Given the description of an element on the screen output the (x, y) to click on. 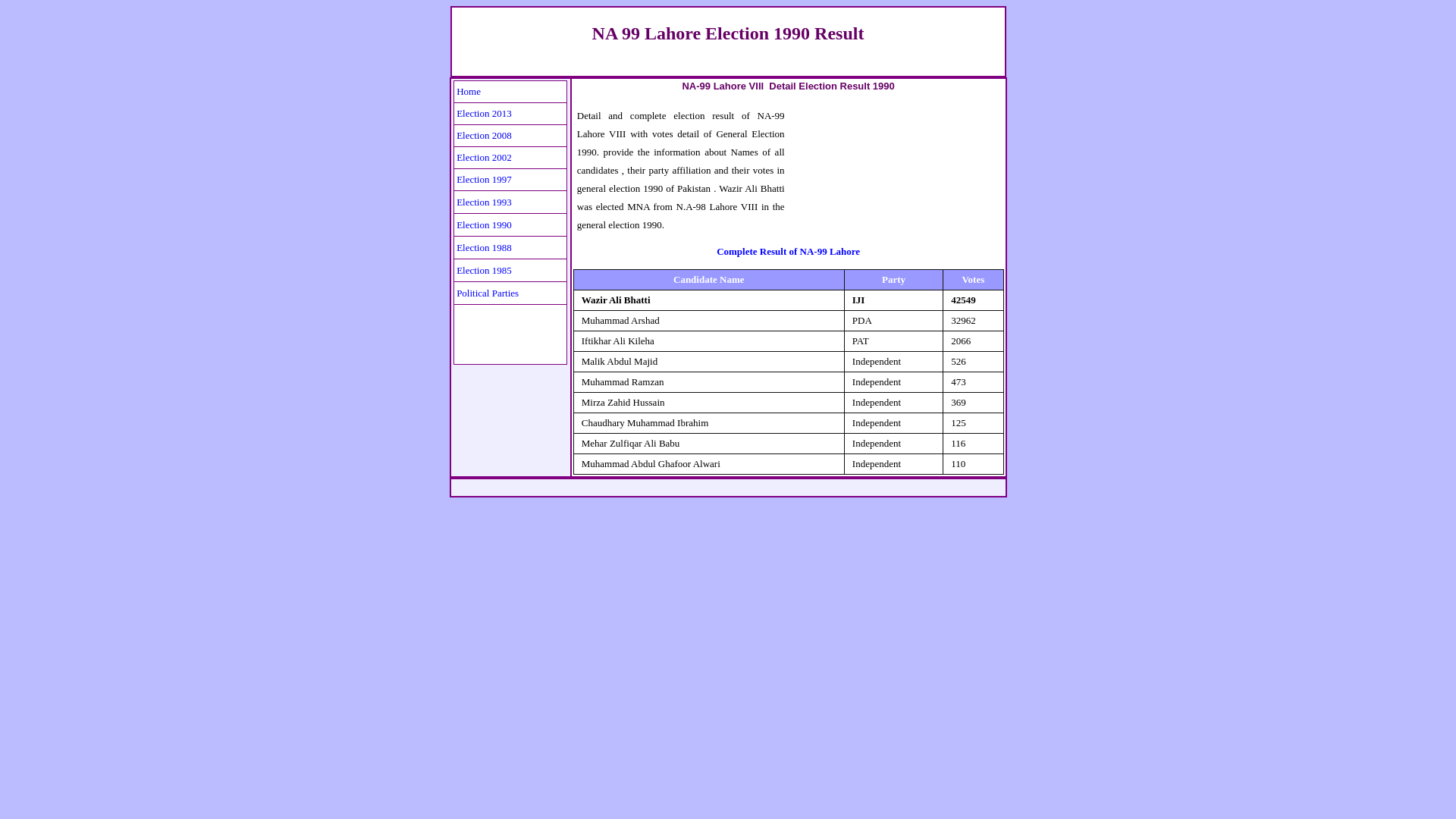
Election 1988 (484, 245)
Election 2013 (484, 112)
Election 1990 (484, 223)
Election 1993 (484, 200)
Election 1997 (484, 178)
Home (468, 91)
Election 2002 (484, 155)
Political Parties (487, 291)
Election 1985 (484, 268)
Election 2008 (484, 134)
